Given the description of an element on the screen output the (x, y) to click on. 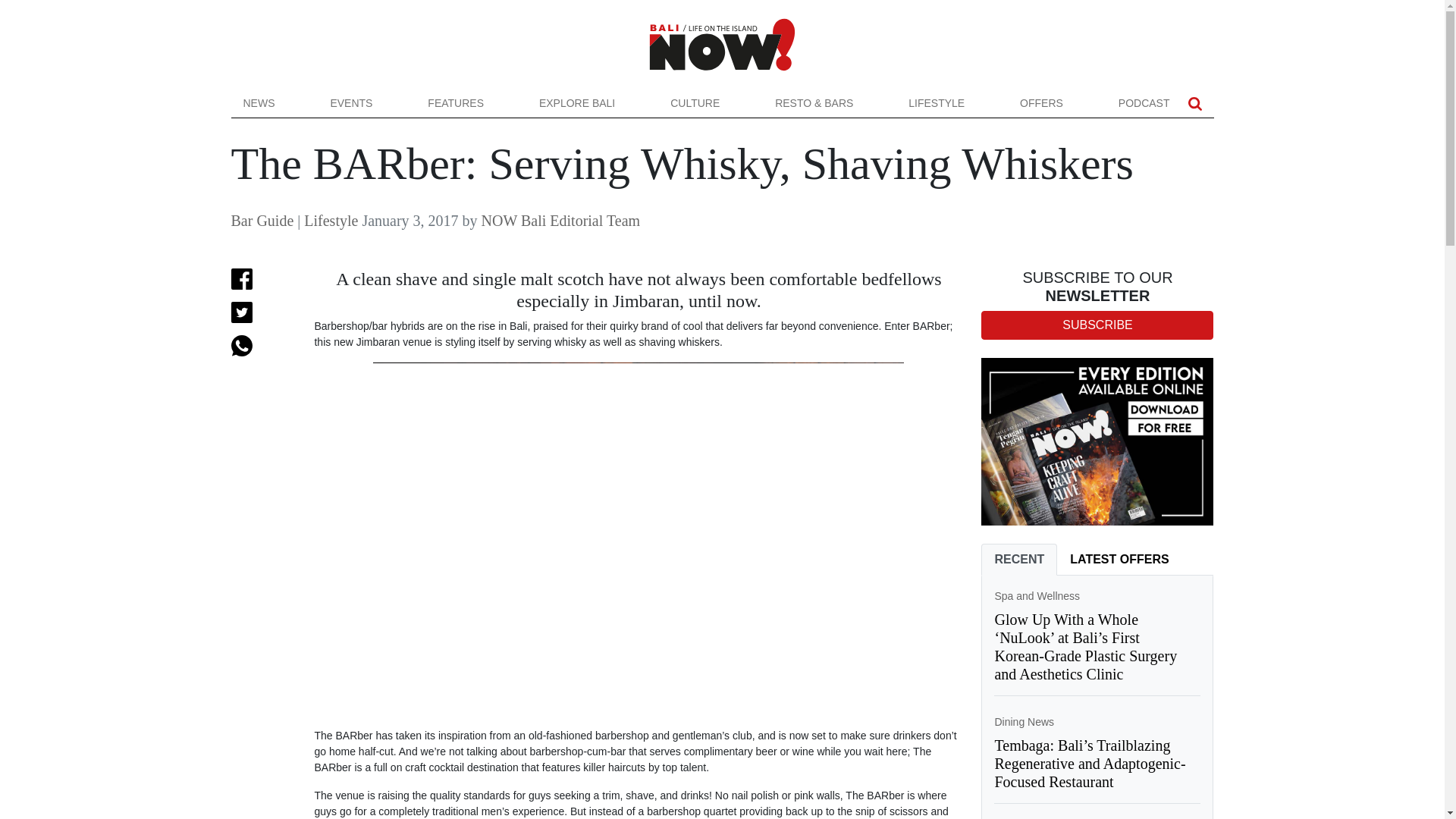
LATEST OFFERS (1118, 559)
EXPLORE BALI (577, 103)
RECENT (1019, 559)
FEATURES (455, 103)
SUBSCRIBE (1096, 325)
LIFESTYLE (936, 103)
PODCAST (1144, 103)
Bar Guide (262, 220)
Dining News (1024, 721)
NOW Bali Editorial Team (560, 220)
